Given the description of an element on the screen output the (x, y) to click on. 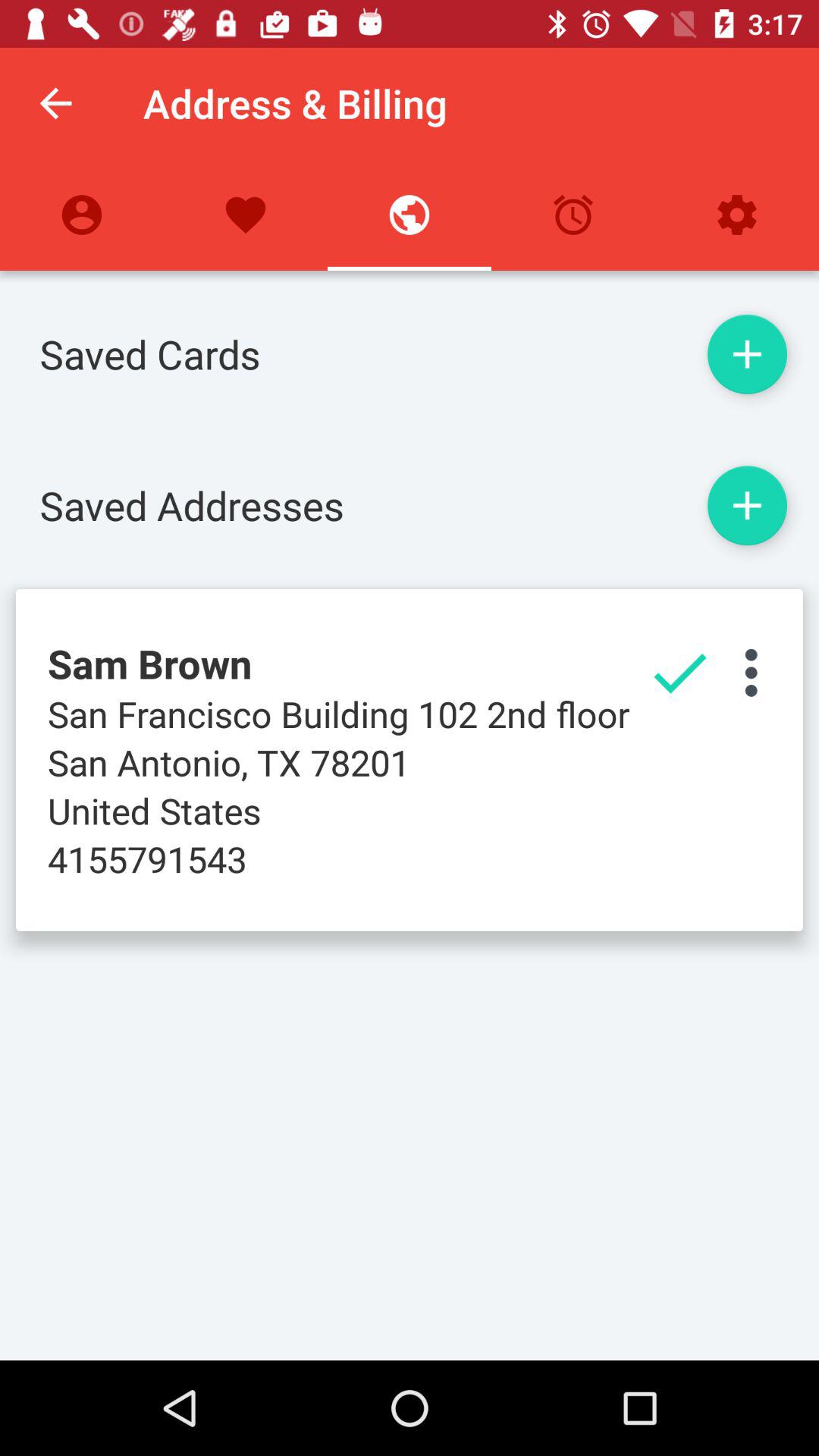
open settings (751, 672)
